Given the description of an element on the screen output the (x, y) to click on. 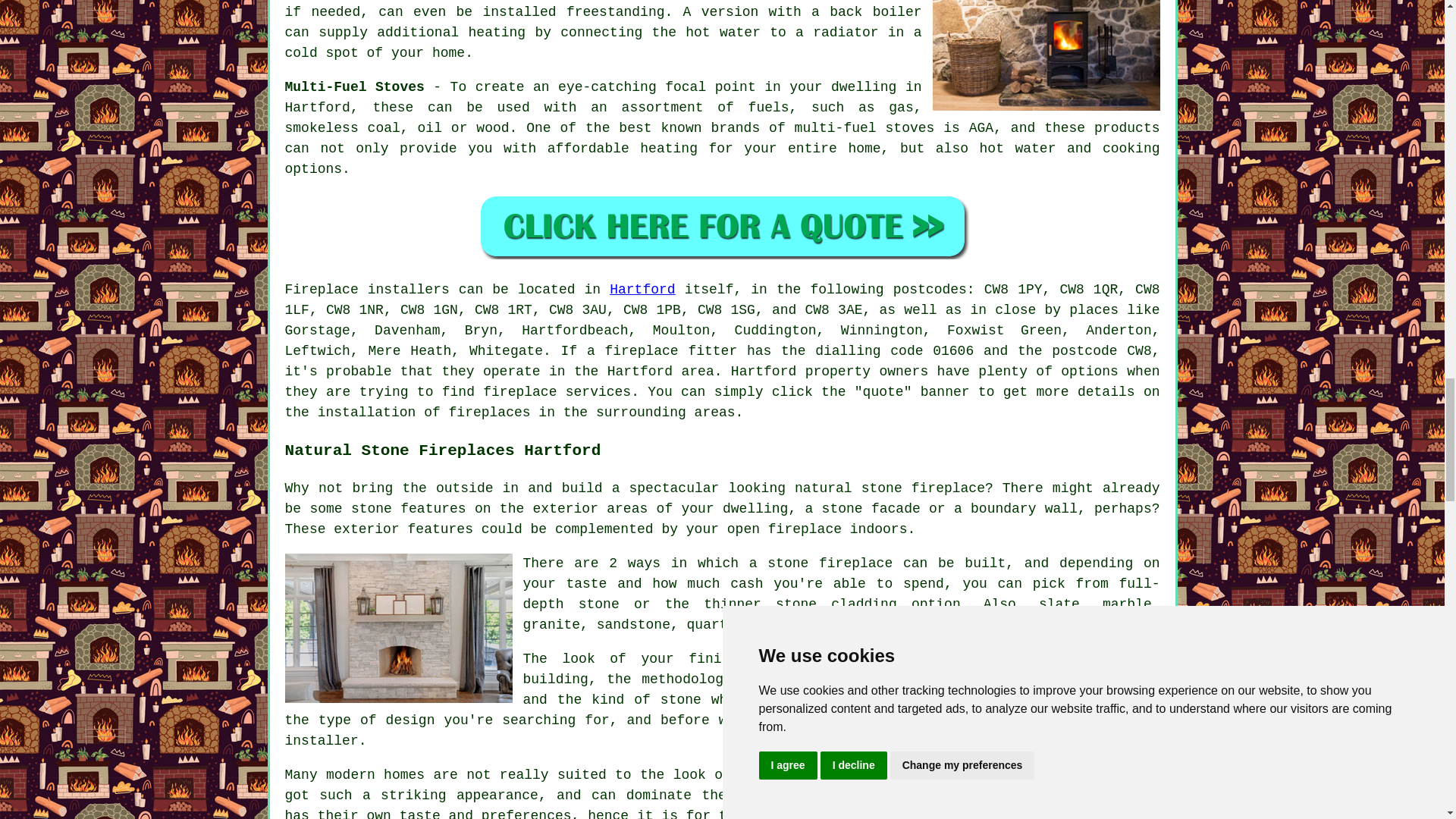
Fireplace Fitters Hartford (1046, 55)
fireplace (641, 350)
multi-fuel stoves (864, 127)
Fireplace (321, 289)
Quotes From Open Fire Installers Hartford (722, 226)
